Given the description of an element on the screen output the (x, y) to click on. 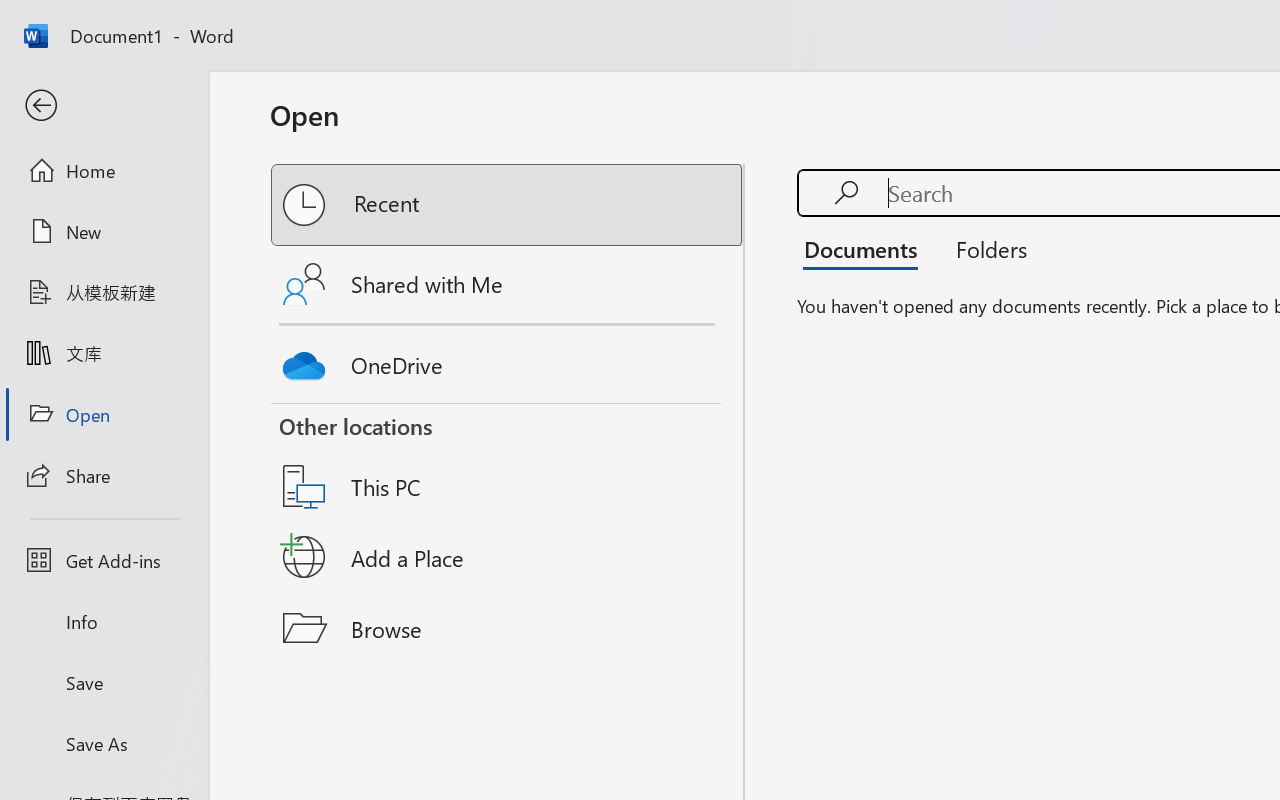
Add a Place (507, 557)
Shared with Me (507, 283)
